Given the description of an element on the screen output the (x, y) to click on. 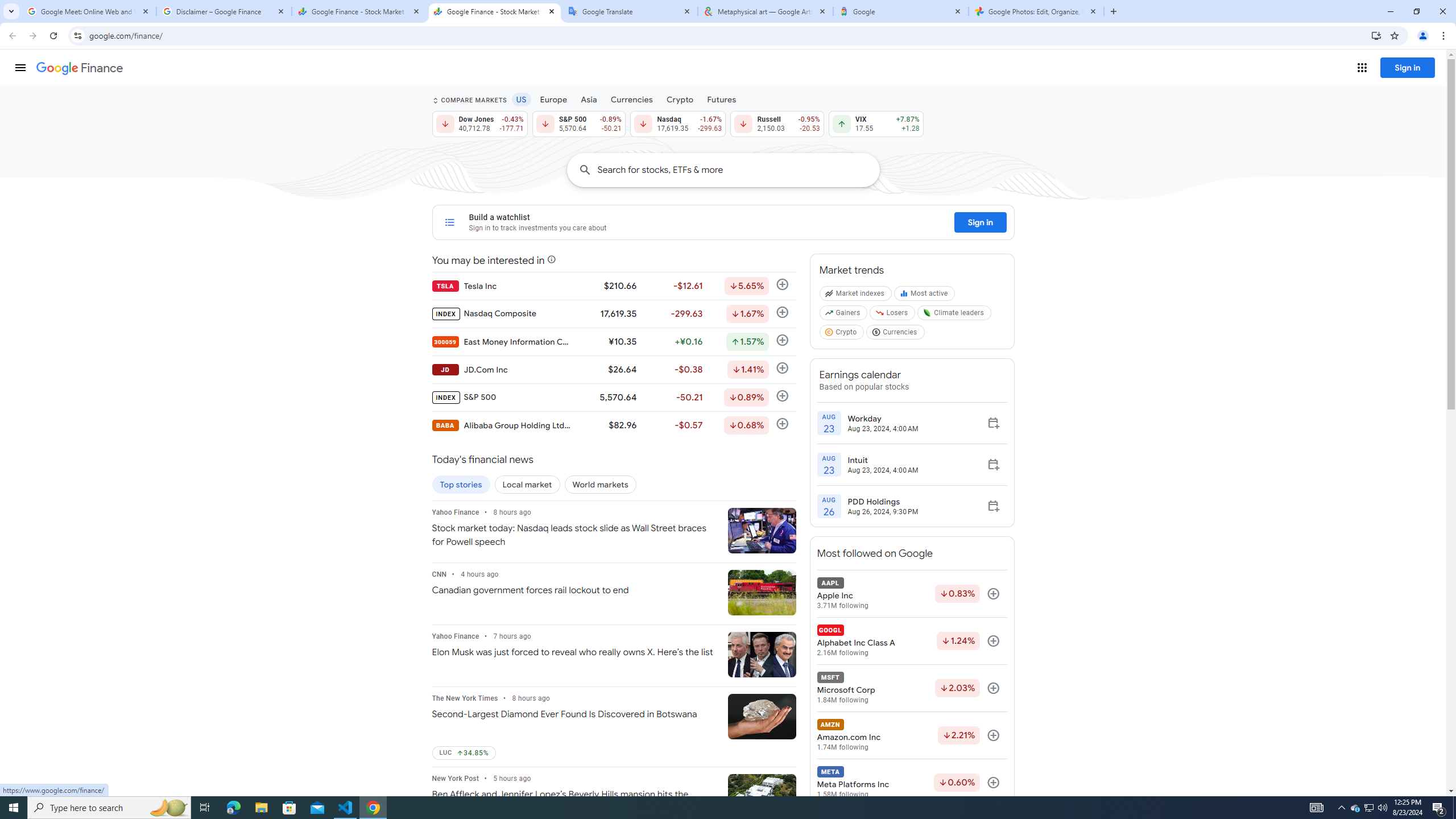
INDEX S&P 500 5,570.64 -50.21 Down by 0.89% Follow (613, 396)
Gainers (844, 315)
Crypto (679, 99)
Losers (893, 315)
AMZN Amazon.com Inc 1.74M following Down by 2.21% Follow (911, 735)
